Given the description of an element on the screen output the (x, y) to click on. 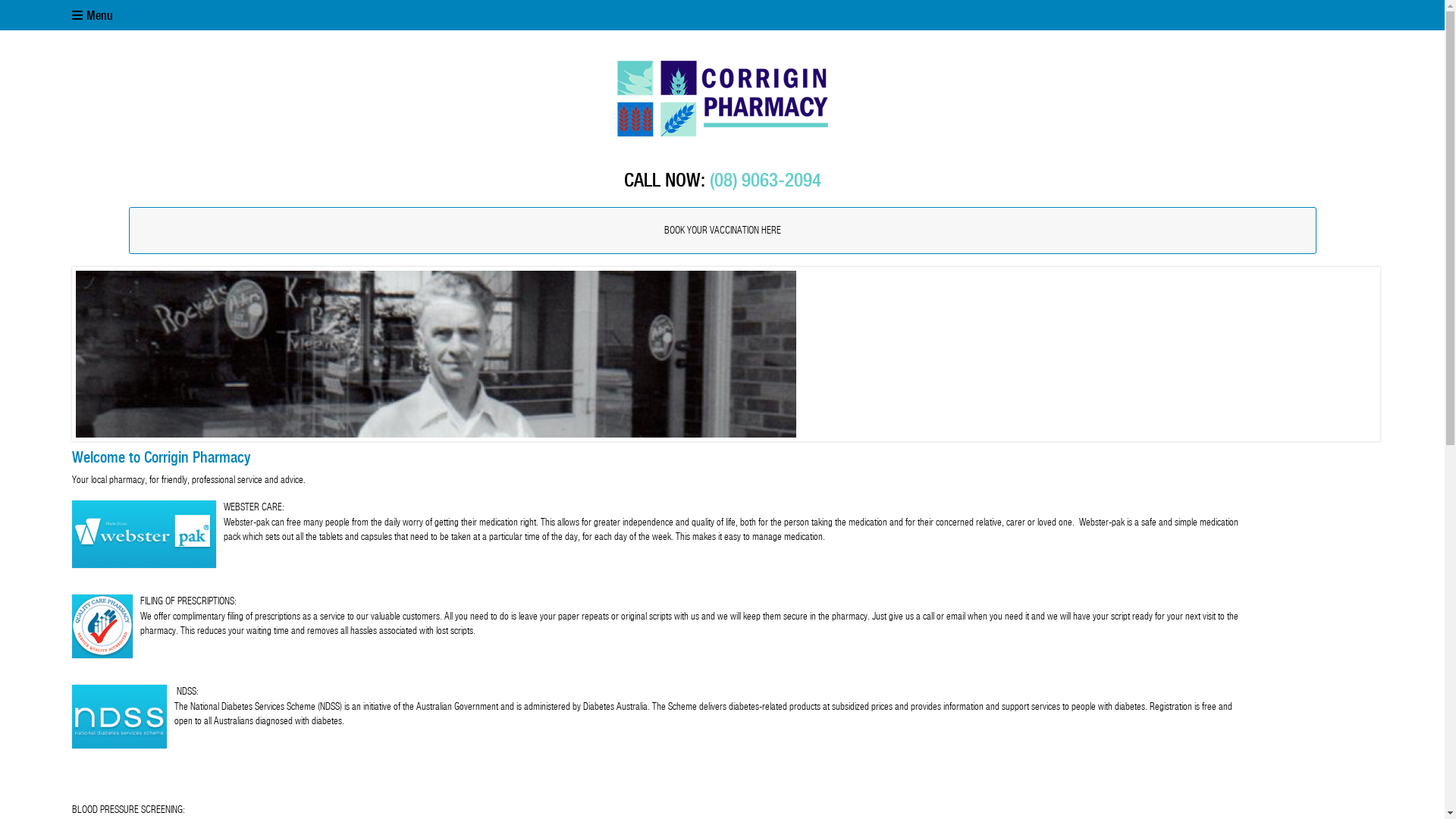
Corrigin Pharmacy Element type: hover (722, 98)
BOOK YOUR VACCINATION HERE Element type: text (722, 230)
Menu Element type: text (722, 15)
Quality Care Pharmacy Element type: hover (102, 626)
Webster Care Element type: hover (144, 533)
National Diabetes Services Scheme Element type: hover (119, 716)
Corrigin Pharmacy Element type: hover (722, 98)
(08) 9063-2094 Element type: text (765, 179)
